Given the description of an element on the screen output the (x, y) to click on. 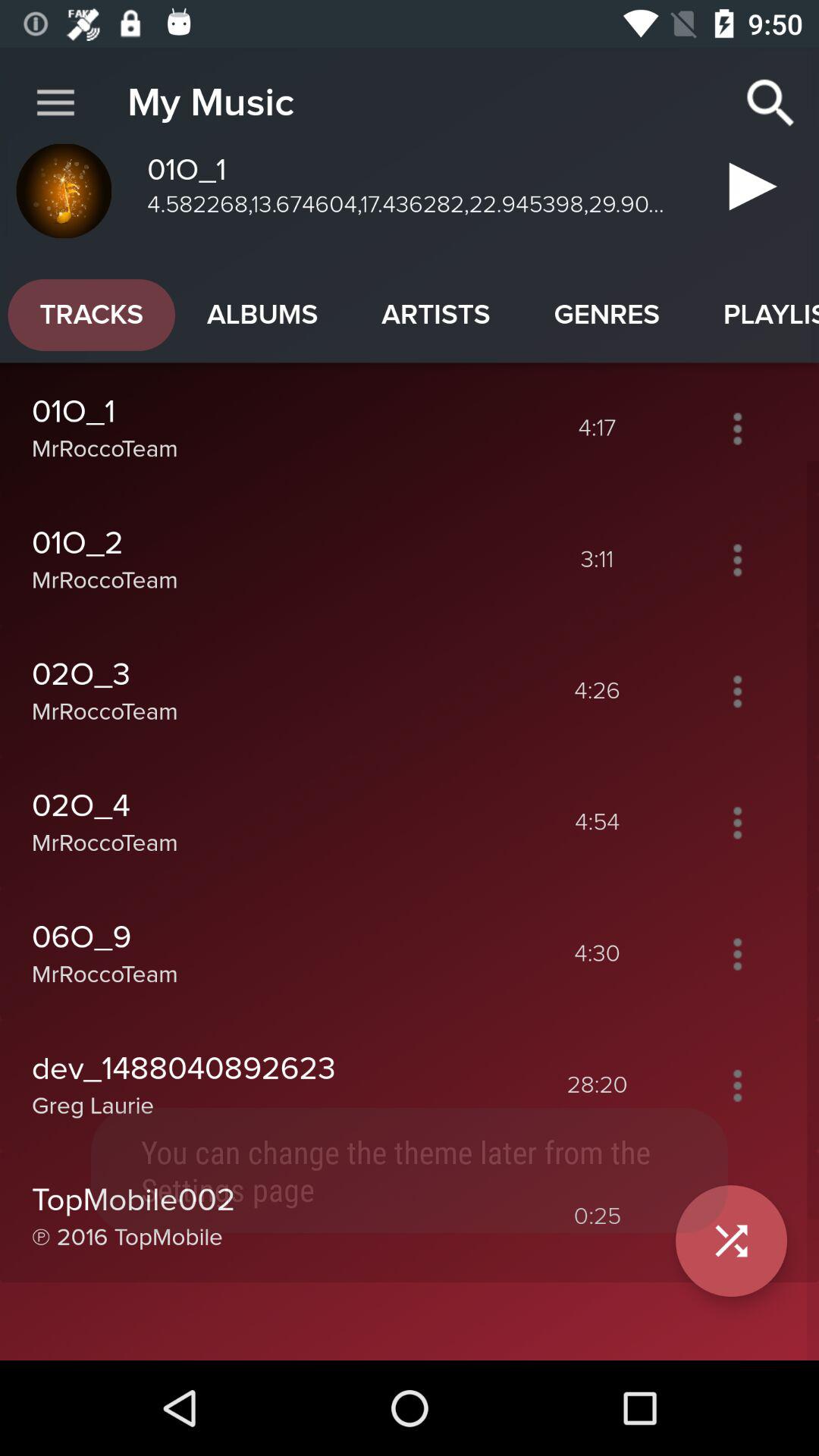
choose icon next to playlists (606, 314)
